Given the description of an element on the screen output the (x, y) to click on. 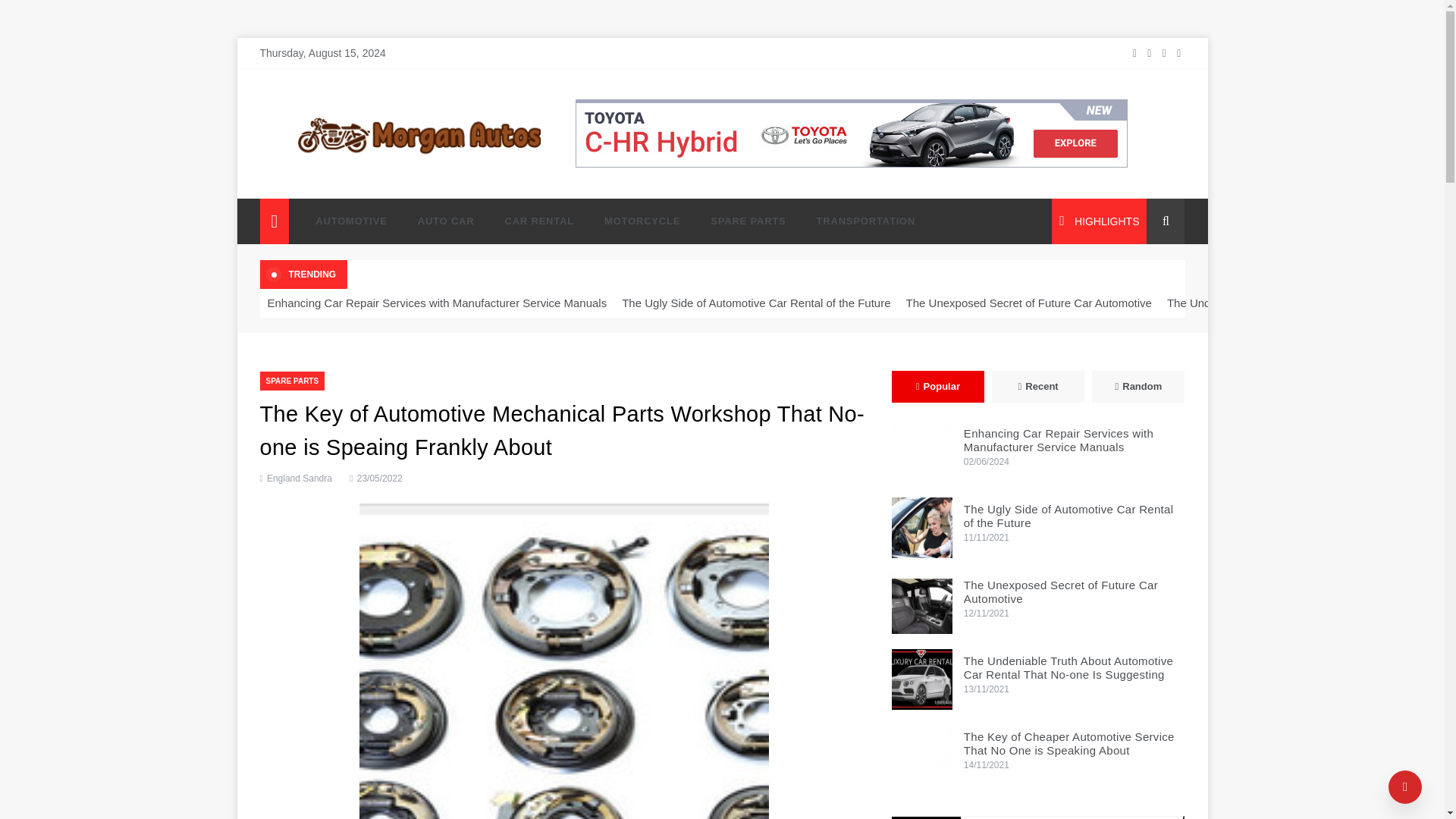
TRANSPORTATION (858, 221)
The Unexposed Secret of Future Car Automotive (921, 603)
Morgan Autos (328, 173)
SPARE PARTS (291, 380)
The Ugly Side of Automotive Car Rental of the Future (756, 303)
MOTORCYCLE (642, 221)
HIGHLIGHTS (1099, 221)
England Sandra (298, 478)
